Given the description of an element on the screen output the (x, y) to click on. 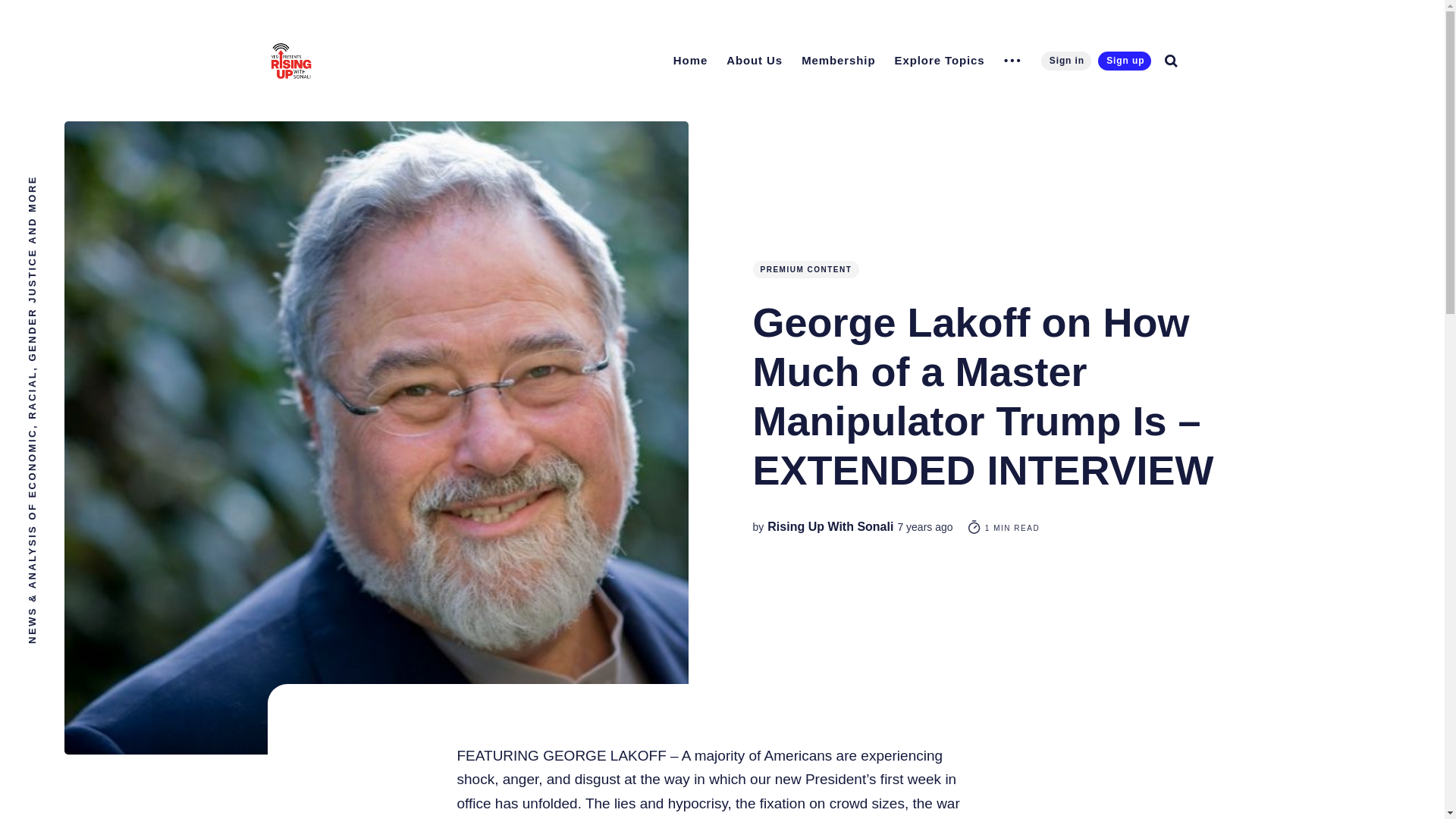
Sign in (1065, 60)
Sign up (1124, 60)
Home (689, 60)
Membership (837, 60)
PREMIUM CONTENT (805, 269)
About Us (754, 60)
Explore Topics (939, 60)
Rising Up With Sonali (830, 526)
